Given the description of an element on the screen output the (x, y) to click on. 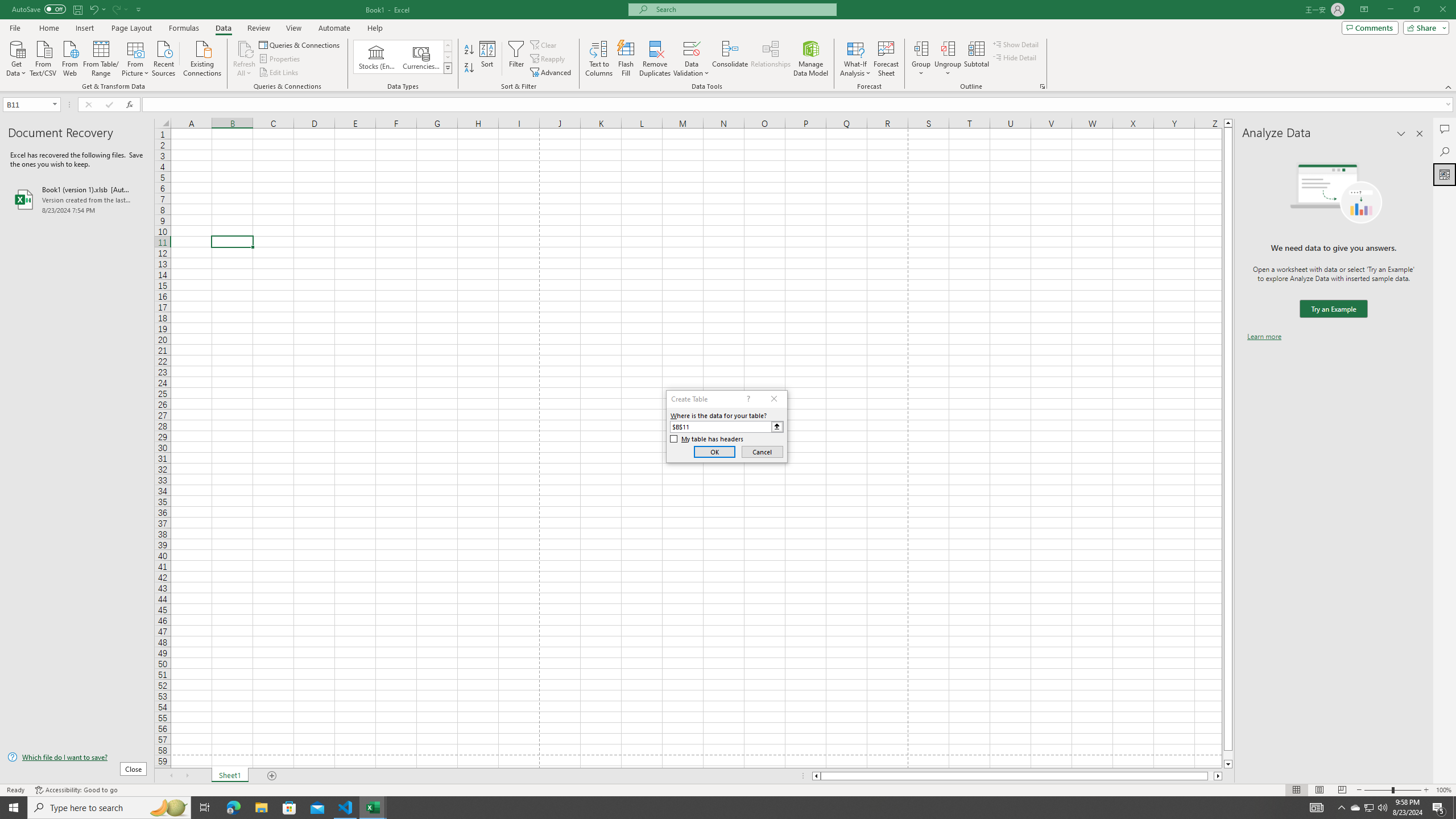
Remove Duplicates (654, 58)
Advanced... (551, 72)
Analyze Data (1444, 173)
